Given the description of an element on the screen output the (x, y) to click on. 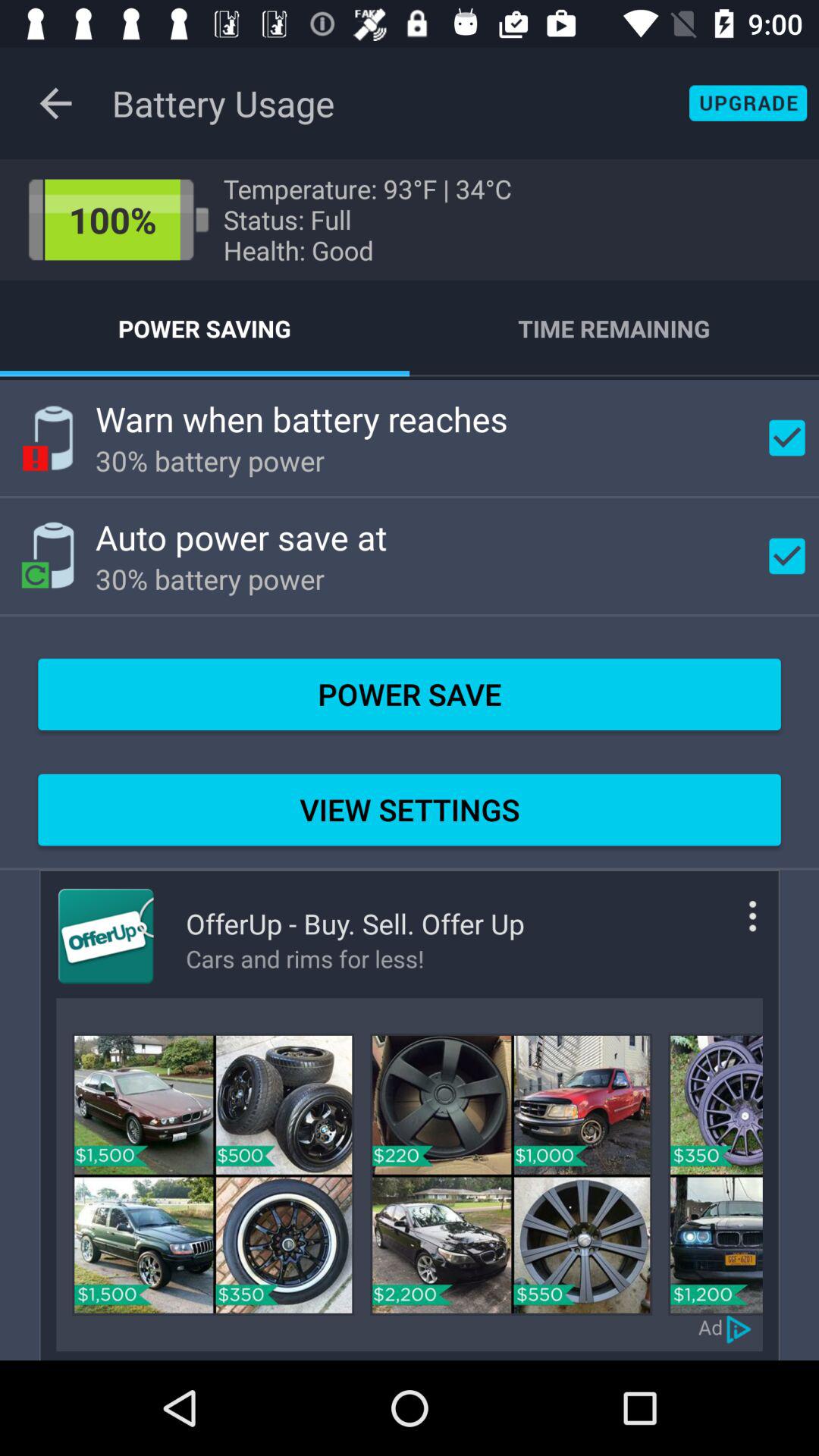
press the icon below view settings item (730, 928)
